Given the description of an element on the screen output the (x, y) to click on. 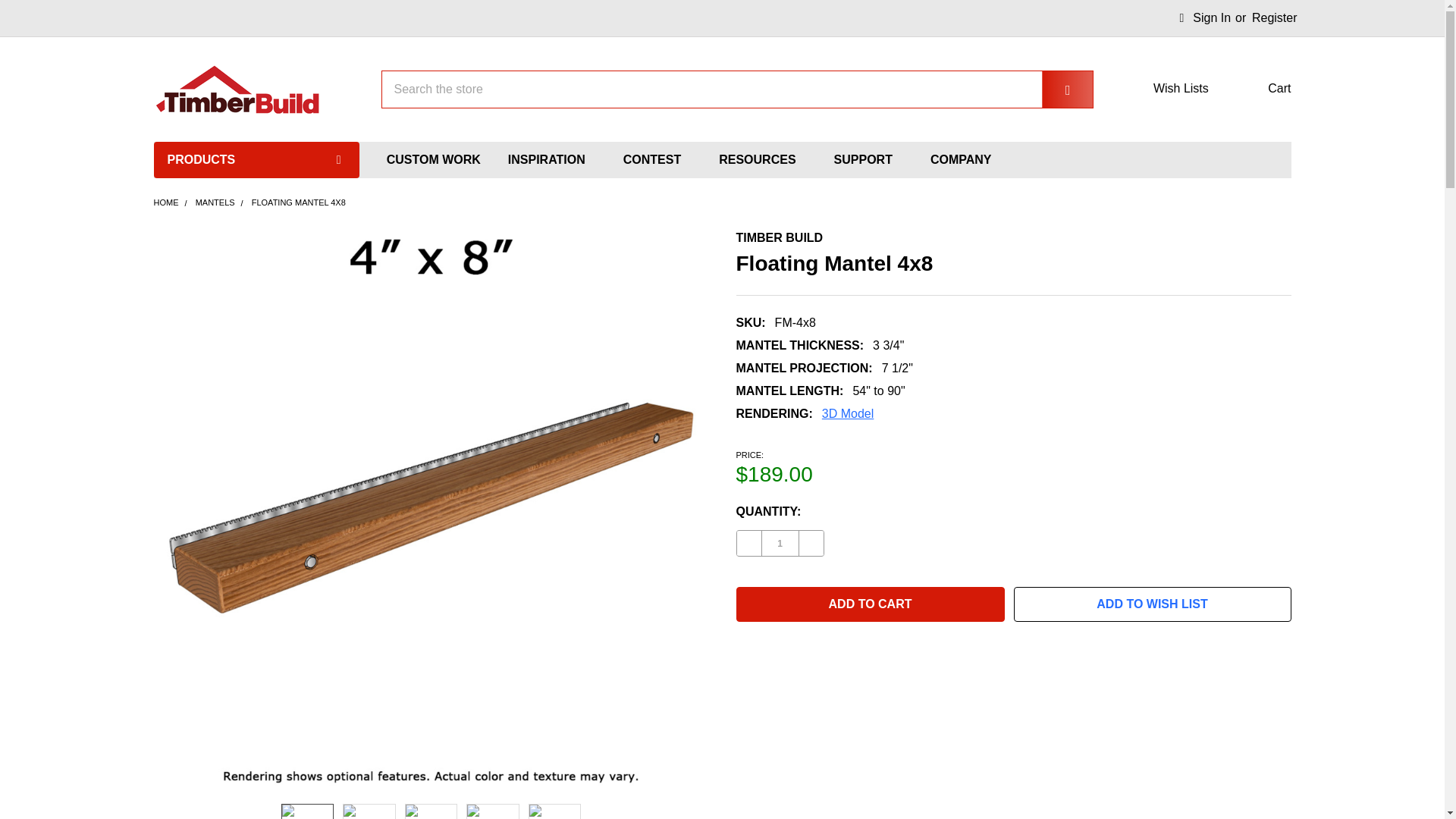
Sign In (1205, 18)
INSPIRATION (552, 159)
Register (1274, 18)
Wooden Knee Braces (256, 512)
Timber Build (236, 89)
Floating Mantel 4x8 (492, 811)
Cart (1259, 88)
Wish Lists (1168, 88)
Add to Cart (869, 604)
Wish Lists (1168, 88)
